Given the description of an element on the screen output the (x, y) to click on. 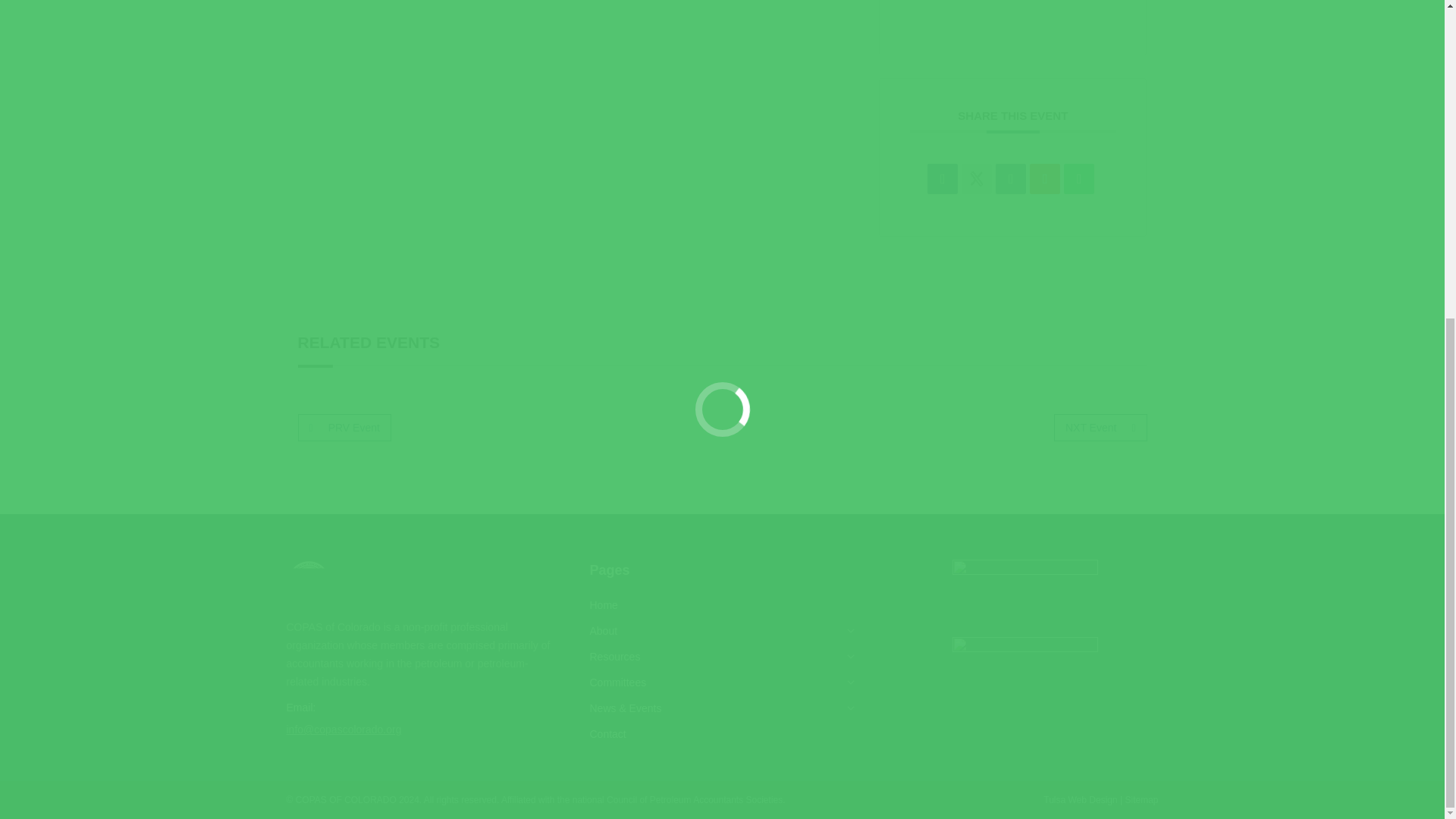
X Social Network (975, 178)
Share on WhatsApp (1079, 178)
Linkedin (1010, 178)
Share on Reddit (1044, 178)
Share on Facebook (942, 178)
